Given the description of an element on the screen output the (x, y) to click on. 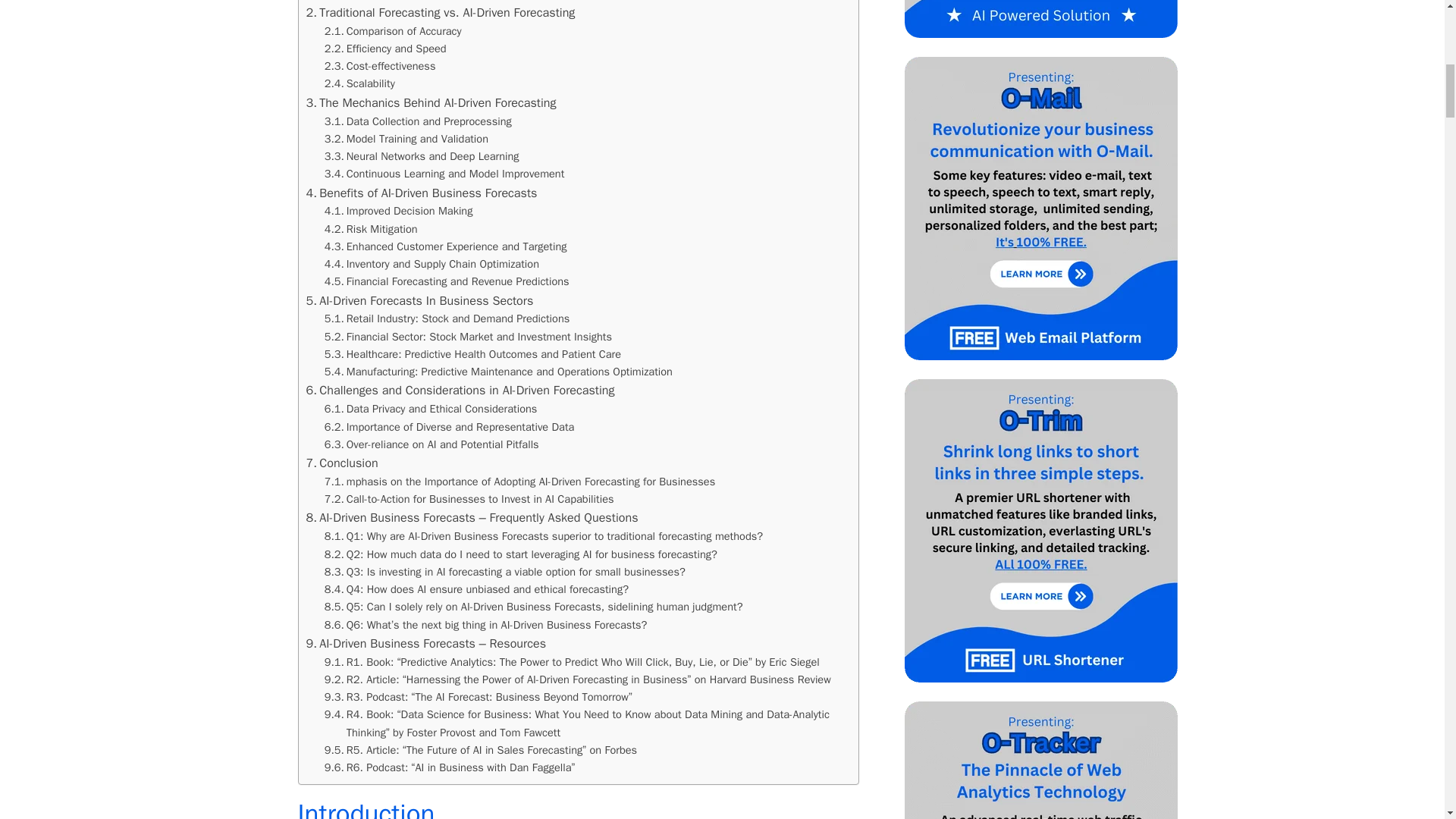
Enhanced Customer Experience and Targeting (445, 246)
Traditional Forecasting vs. AI-Driven Forecasting (440, 12)
Data Collection and Preprocessing (418, 121)
Introduction (343, 1)
Continuous Learning and Model Improvement (444, 173)
Efficiency and Speed (385, 48)
Benefits of AI-Driven Business Forecasts (421, 193)
Risk Mitigation (370, 229)
Traditional Forecasting vs. AI-Driven Forecasting (440, 12)
Benefits of AI-Driven Business Forecasts (421, 193)
Improved Decision Making (398, 211)
Introduction (343, 1)
Efficiency and Speed (385, 48)
Scalability (359, 83)
Financial Forecasting and Revenue Predictions (446, 281)
